Given the description of an element on the screen output the (x, y) to click on. 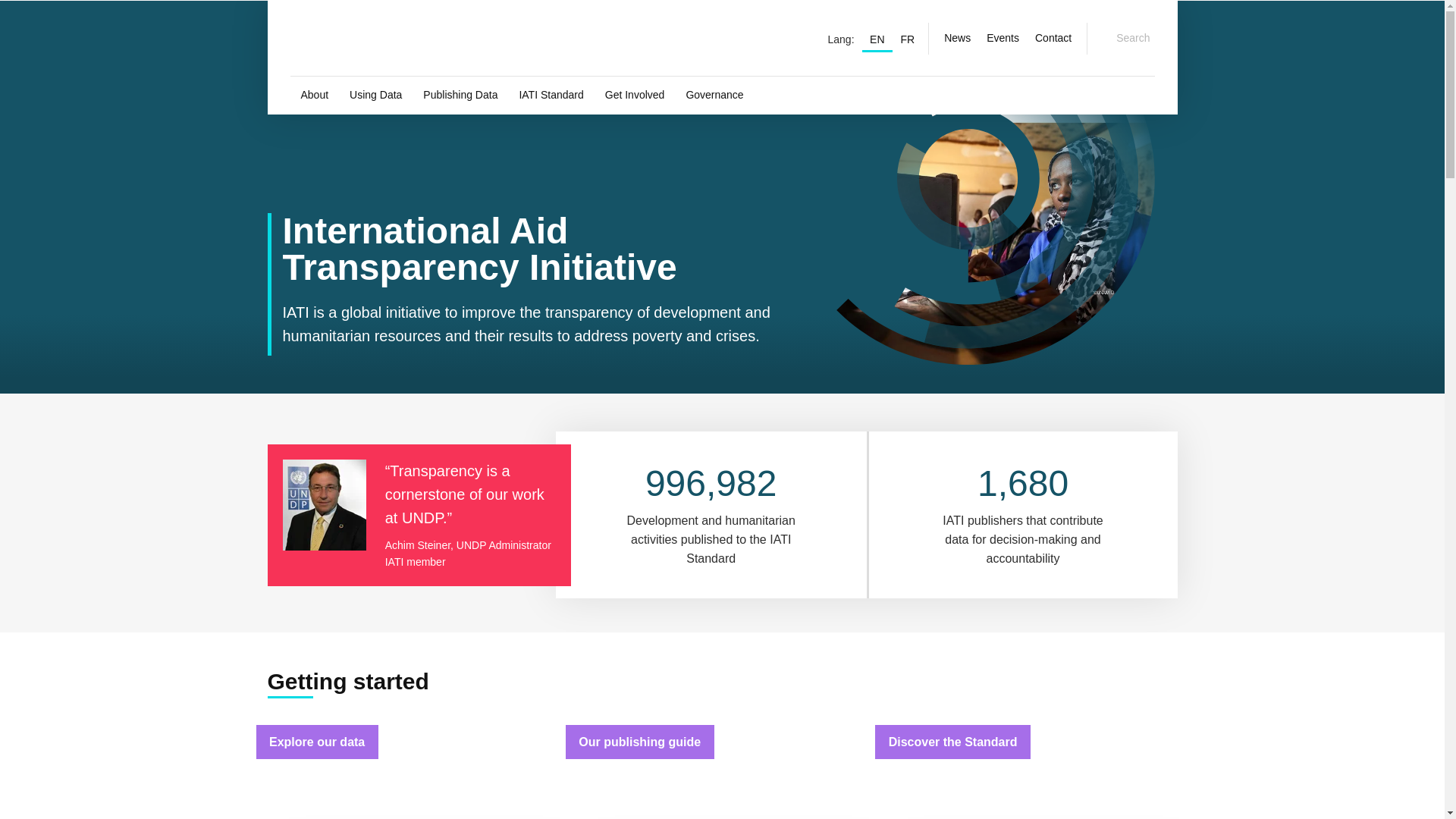
Search (1124, 38)
News (957, 37)
Using Data (375, 95)
Events (1003, 37)
EN (876, 37)
FR (907, 37)
About (314, 95)
Publishing Data (460, 95)
Contact (1053, 37)
